Given the description of an element on the screen output the (x, y) to click on. 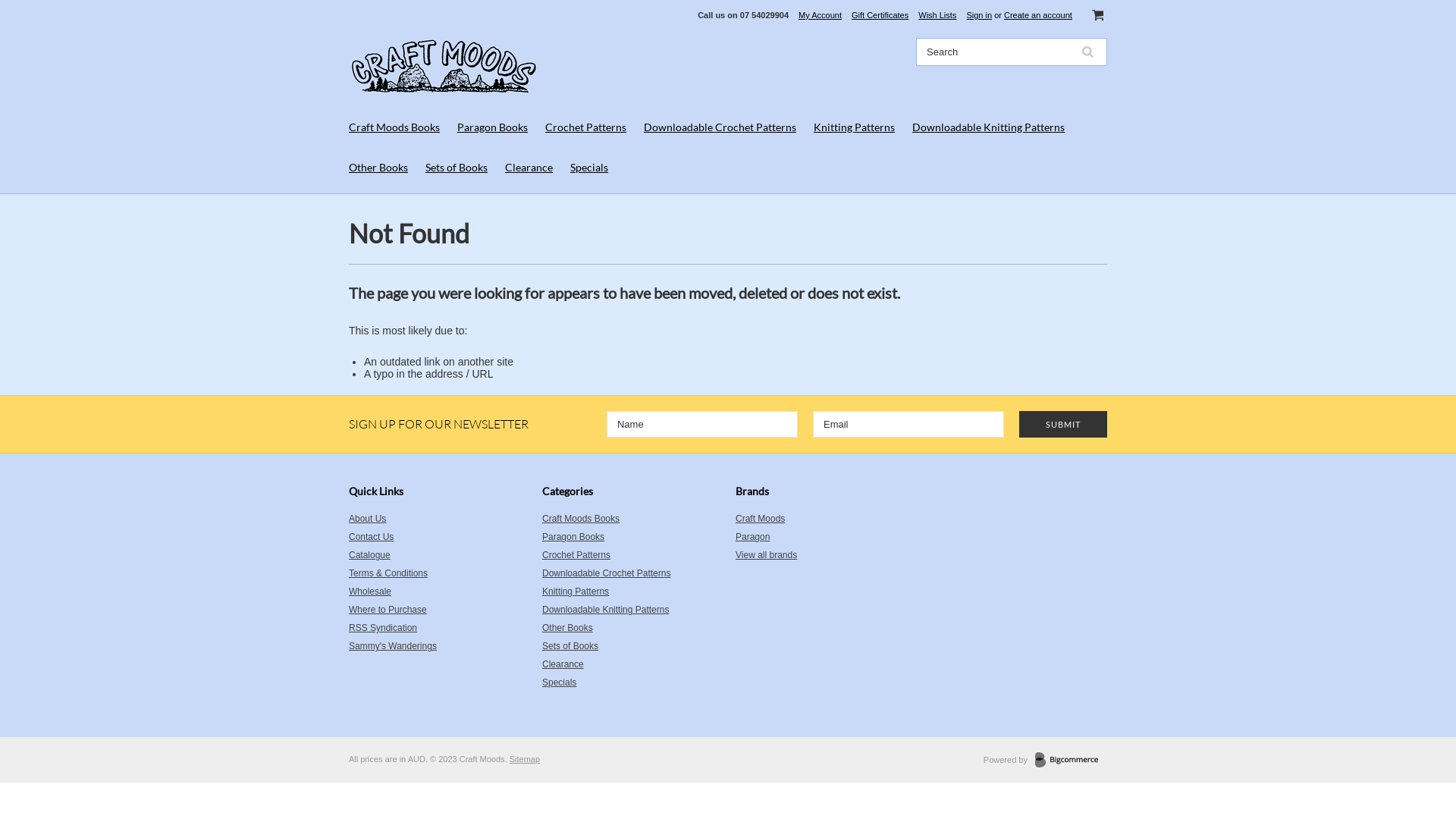
Where to Purchase Element type: text (437, 609)
Downloadable Crochet Patterns Element type: text (631, 572)
Paragon Element type: text (752, 536)
Crochet Patterns Element type: text (585, 126)
Clearance Element type: text (528, 166)
Bigcommerce Element type: text (1071, 760)
Craft Moods Books Element type: text (393, 126)
Other Books Element type: text (377, 166)
Knitting Patterns Element type: text (853, 126)
Sitemap Element type: text (524, 758)
Contact Us Element type: text (437, 536)
Crochet Patterns Element type: text (631, 554)
Submit Element type: text (1063, 424)
Clearance Element type: text (631, 663)
Downloadable Knitting Patterns Element type: text (988, 126)
Paragon Books Element type: text (492, 126)
Search Element type: hover (1087, 51)
Sets of Books Element type: text (631, 645)
Create an account Element type: text (1038, 14)
Downloadable Crochet Patterns Element type: text (719, 126)
Paragon Books Element type: text (631, 536)
Catalogue Element type: text (437, 554)
Sammy's Wanderings Element type: text (437, 645)
RSS Syndication Element type: text (437, 627)
Craft Moods Element type: text (759, 518)
Wholesale Element type: text (437, 591)
Wish Lists Element type: text (937, 14)
My Account Element type: text (819, 14)
About Us Element type: text (437, 518)
View all brands Element type: text (766, 554)
Sign in Element type: text (978, 14)
Specials Element type: text (589, 166)
View Cart Element type: hover (1097, 14)
Gift Certificates Element type: text (879, 14)
Sets of Books Element type: text (456, 166)
Knitting Patterns Element type: text (631, 591)
Specials Element type: text (631, 682)
Craft Moods Books Element type: text (631, 518)
Other Books Element type: text (631, 627)
Terms & Conditions Element type: text (437, 572)
Downloadable Knitting Patterns Element type: text (631, 609)
